Given the description of an element on the screen output the (x, y) to click on. 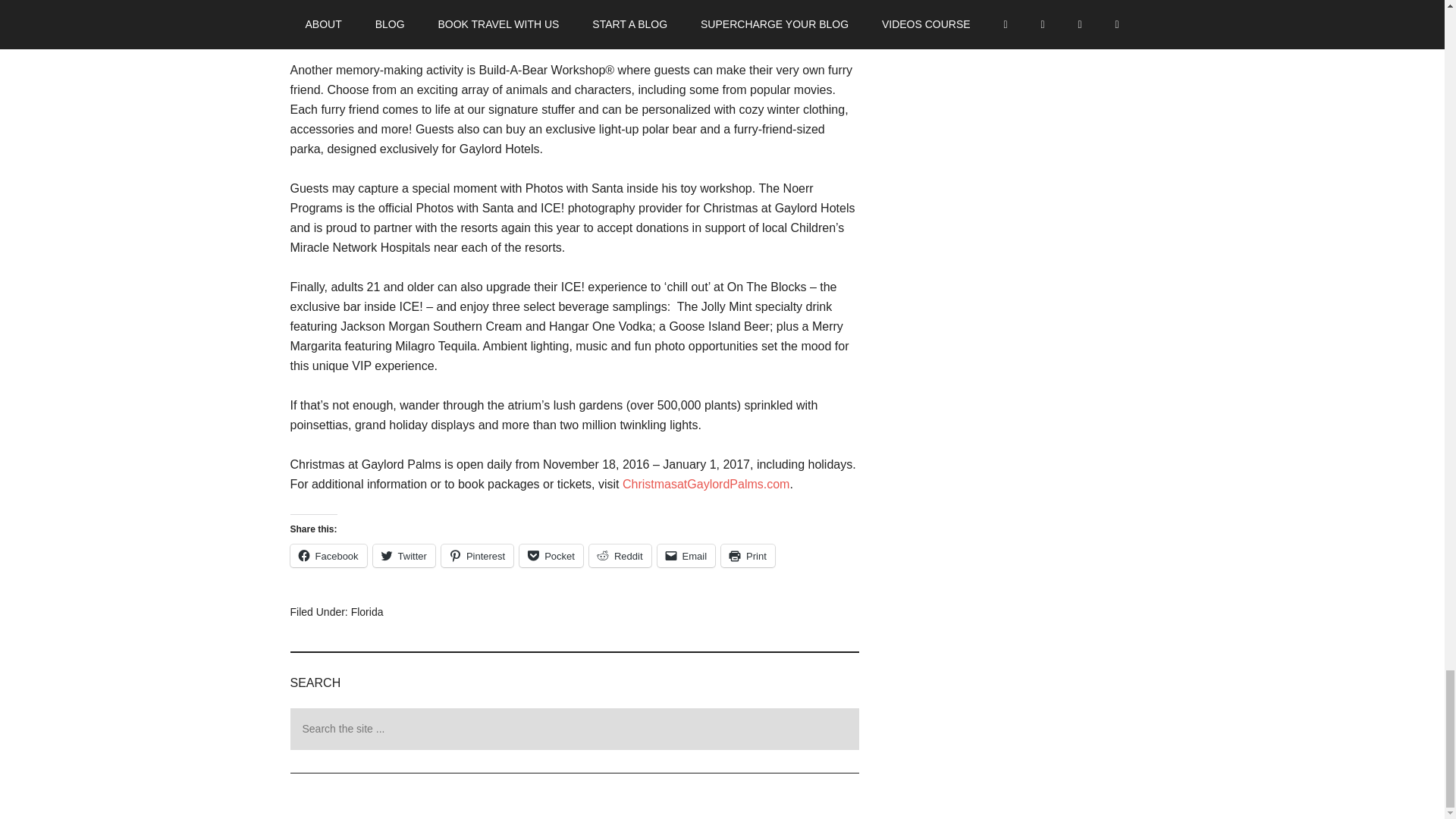
Click to email a link to a friend (687, 555)
Click to share on Pocket (551, 555)
Click to share on Pinterest (477, 555)
Click to share on Reddit (619, 555)
Click to print (747, 555)
Click to share on Facebook (327, 555)
Click to share on Twitter (403, 555)
